Given the description of an element on the screen output the (x, y) to click on. 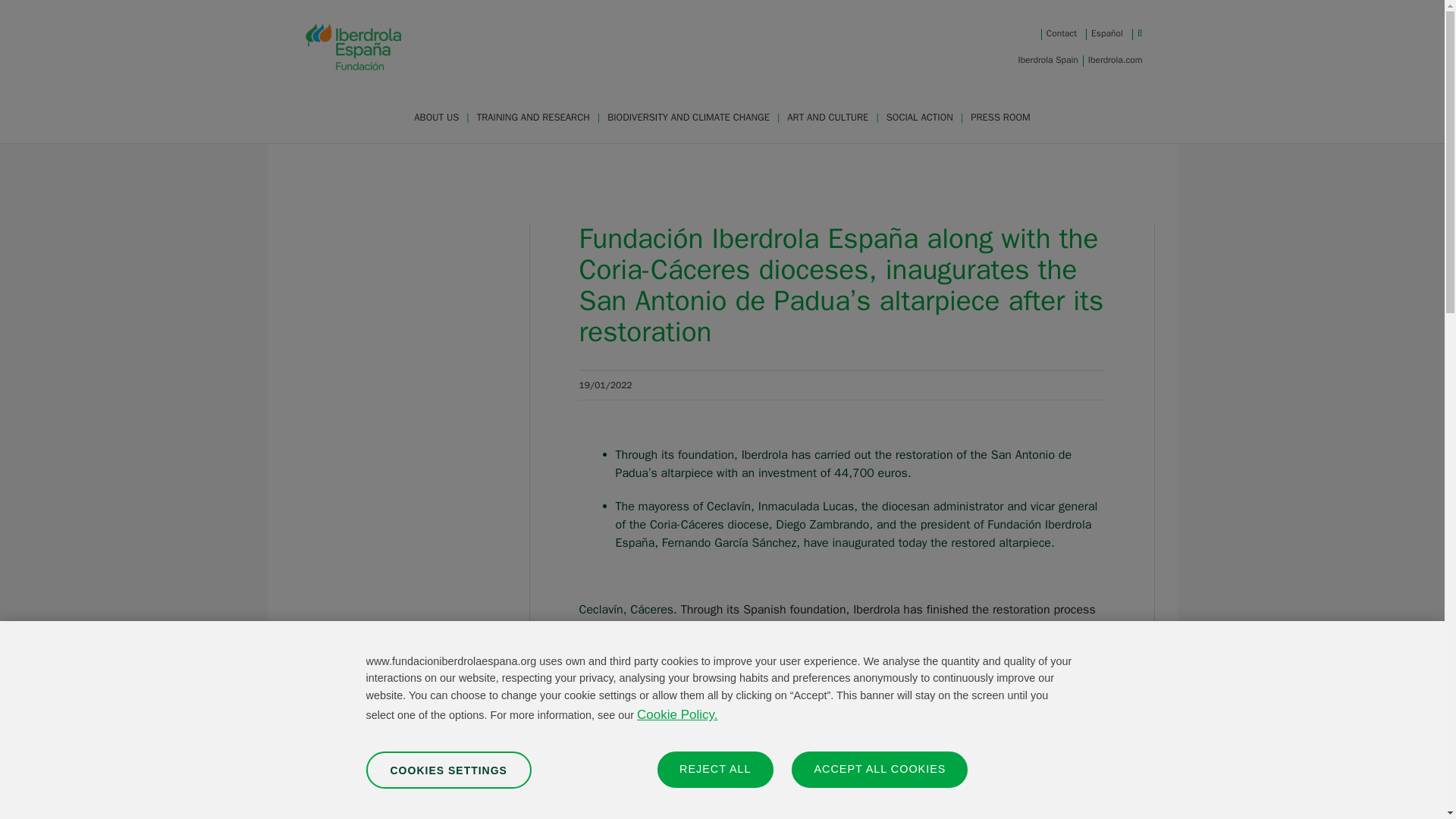
ABOUT US (437, 117)
Iberdrola Spain (1047, 59)
Iberdrola.com (1114, 59)
Contact (1061, 33)
TRAINING AND RESEARCH (533, 117)
